Given the description of an element on the screen output the (x, y) to click on. 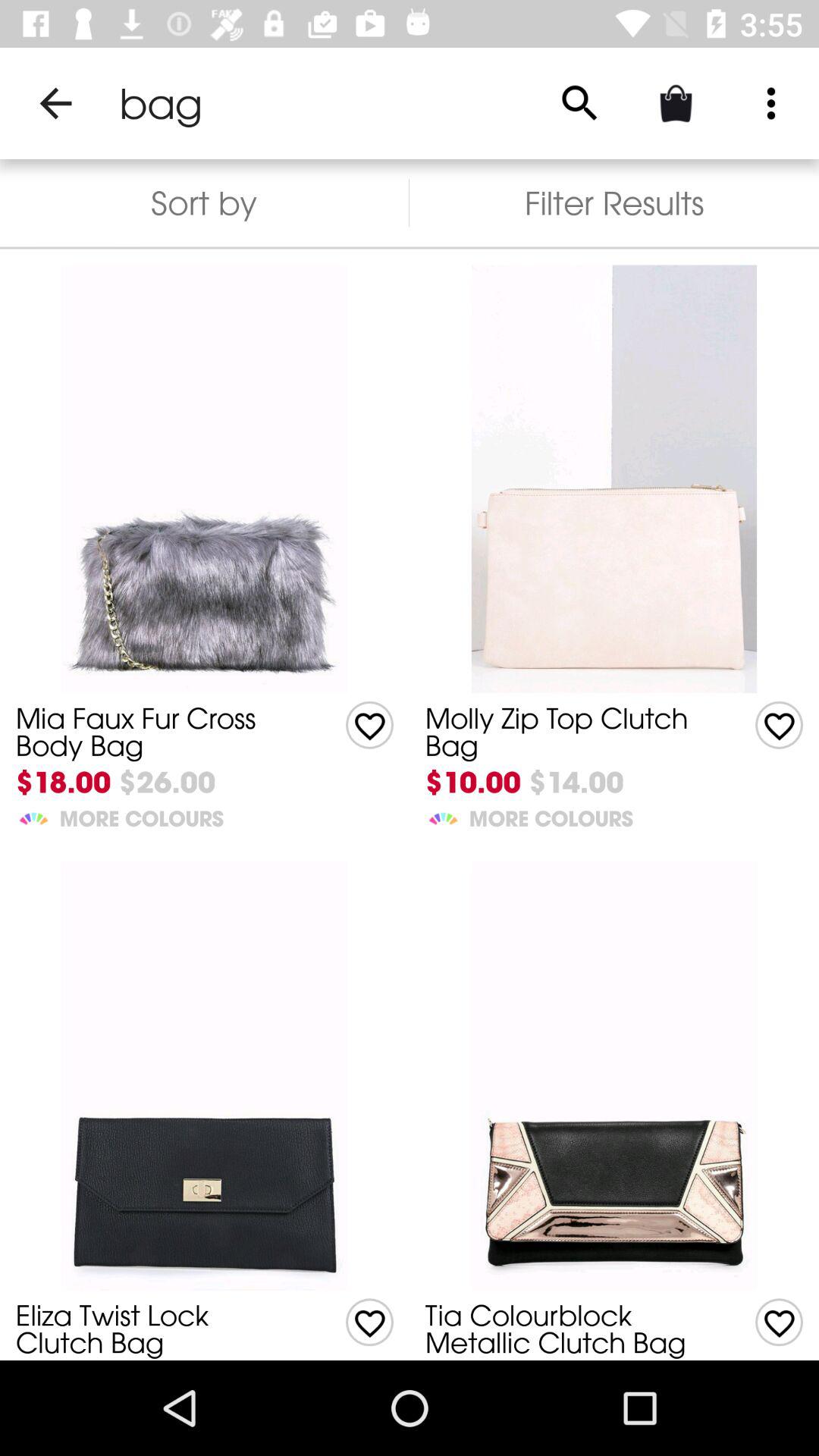
select the molly zip top (566, 731)
